Given the description of an element on the screen output the (x, y) to click on. 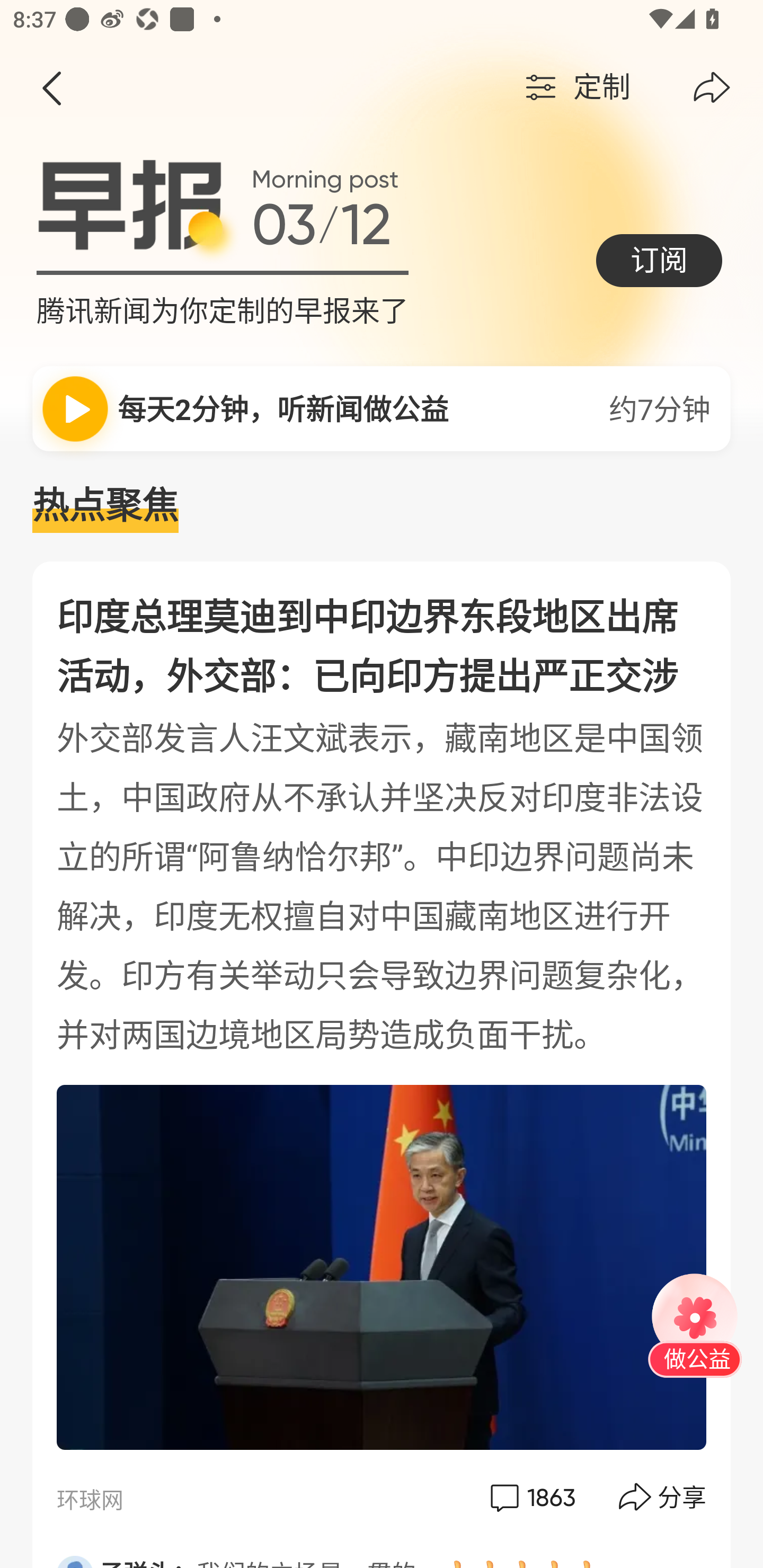
 (50, 87)
 定制 (575, 87)
 (711, 87)
订阅 (658, 259)
 每天2分钟，听新闻做公益 约7分钟 (381, 407)
热点聚焦 (381, 506)
评论  1863 (531, 1497)
 分享 (663, 1497)
